Given the description of an element on the screen output the (x, y) to click on. 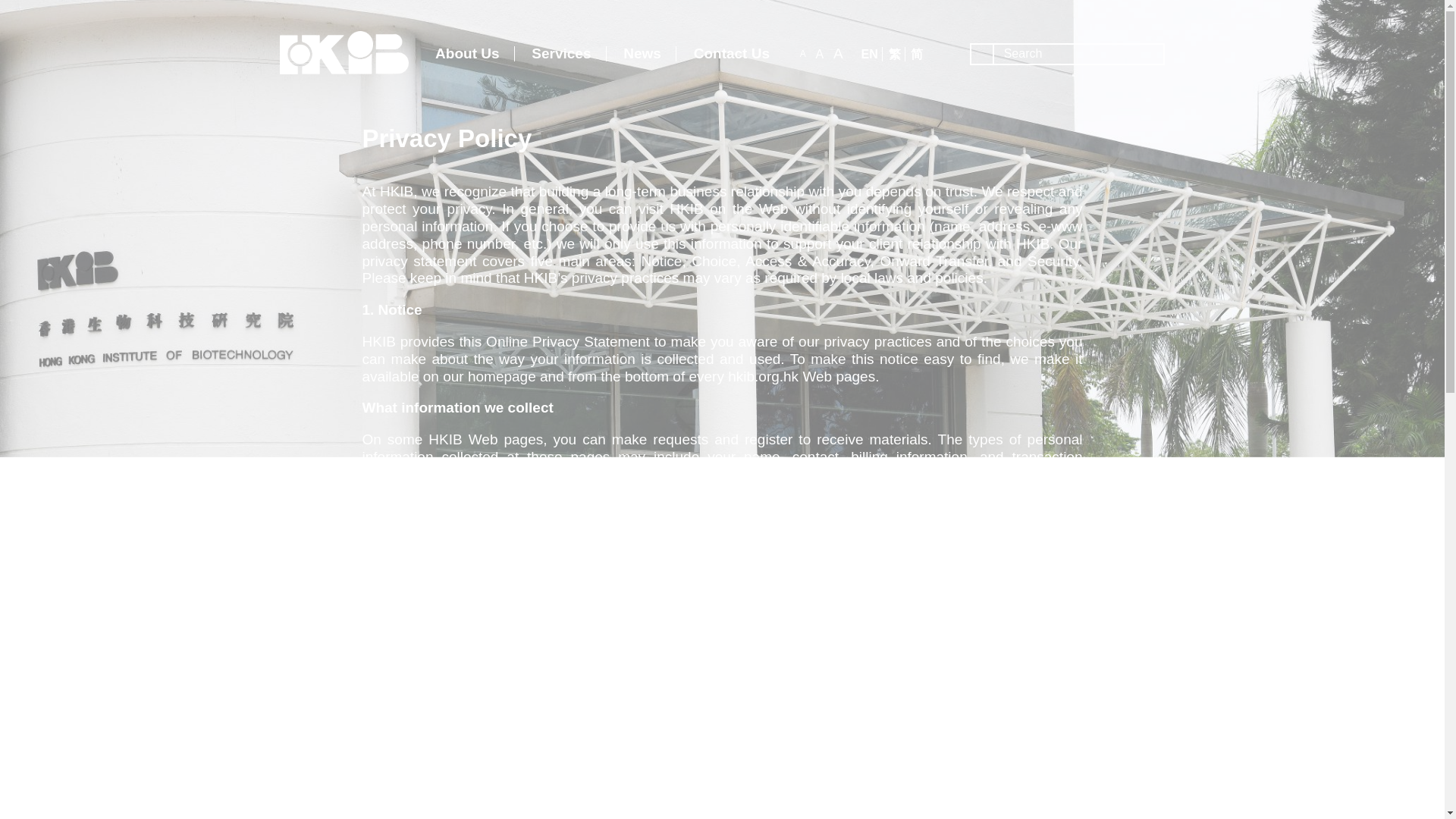
Contact Us (732, 54)
Services (561, 54)
News (642, 54)
About Us (467, 54)
Search (12, 4)
EN (869, 53)
